Given the description of an element on the screen output the (x, y) to click on. 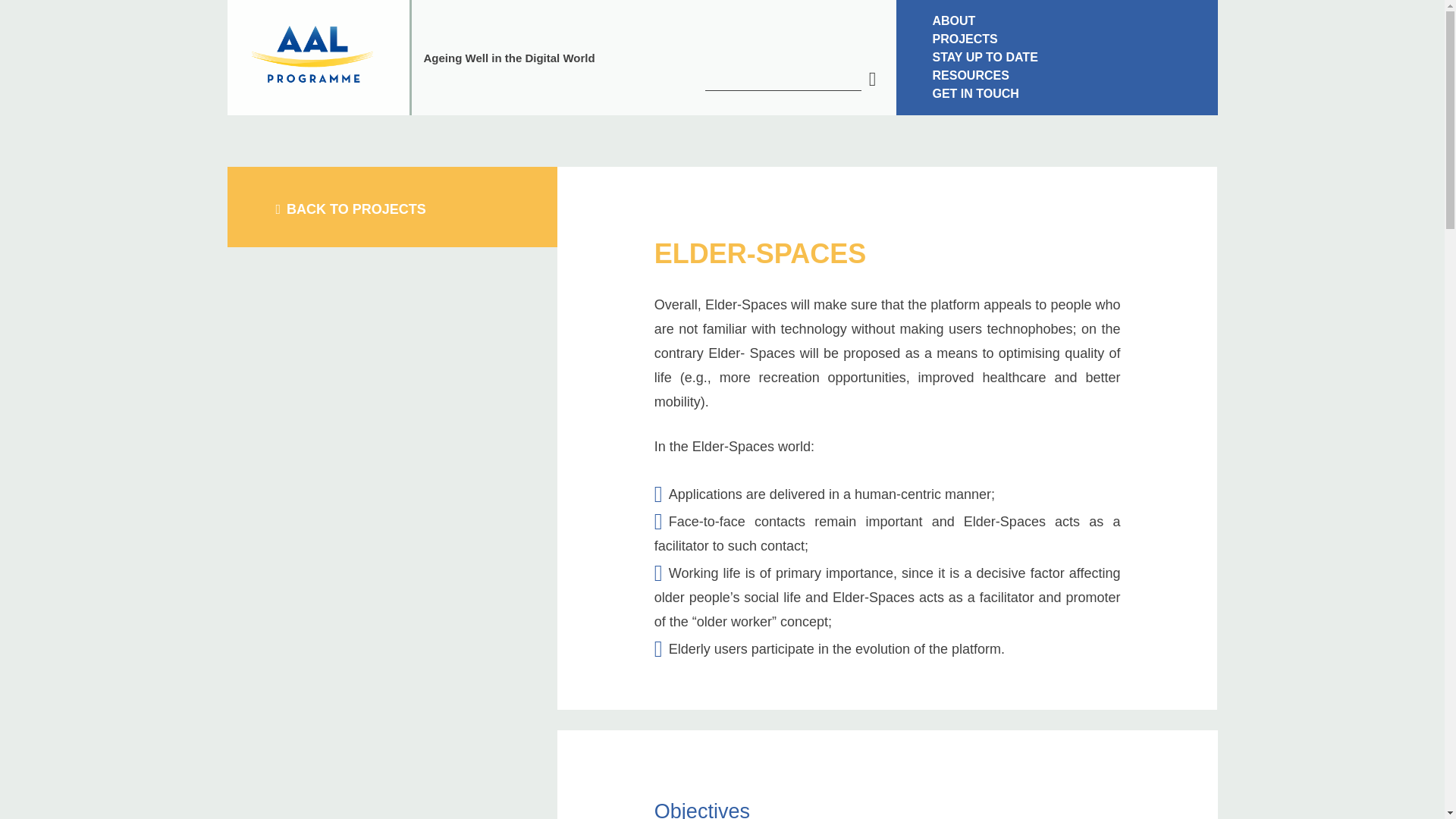
ABOUT (1056, 21)
Search for: (782, 78)
GET IN TOUCH (1056, 94)
Search for: (872, 78)
BACK TO PROJECTS (351, 209)
STAY UP TO DATE (1056, 57)
PROJECTS (1056, 39)
RESOURCES (1056, 75)
